Given the description of an element on the screen output the (x, y) to click on. 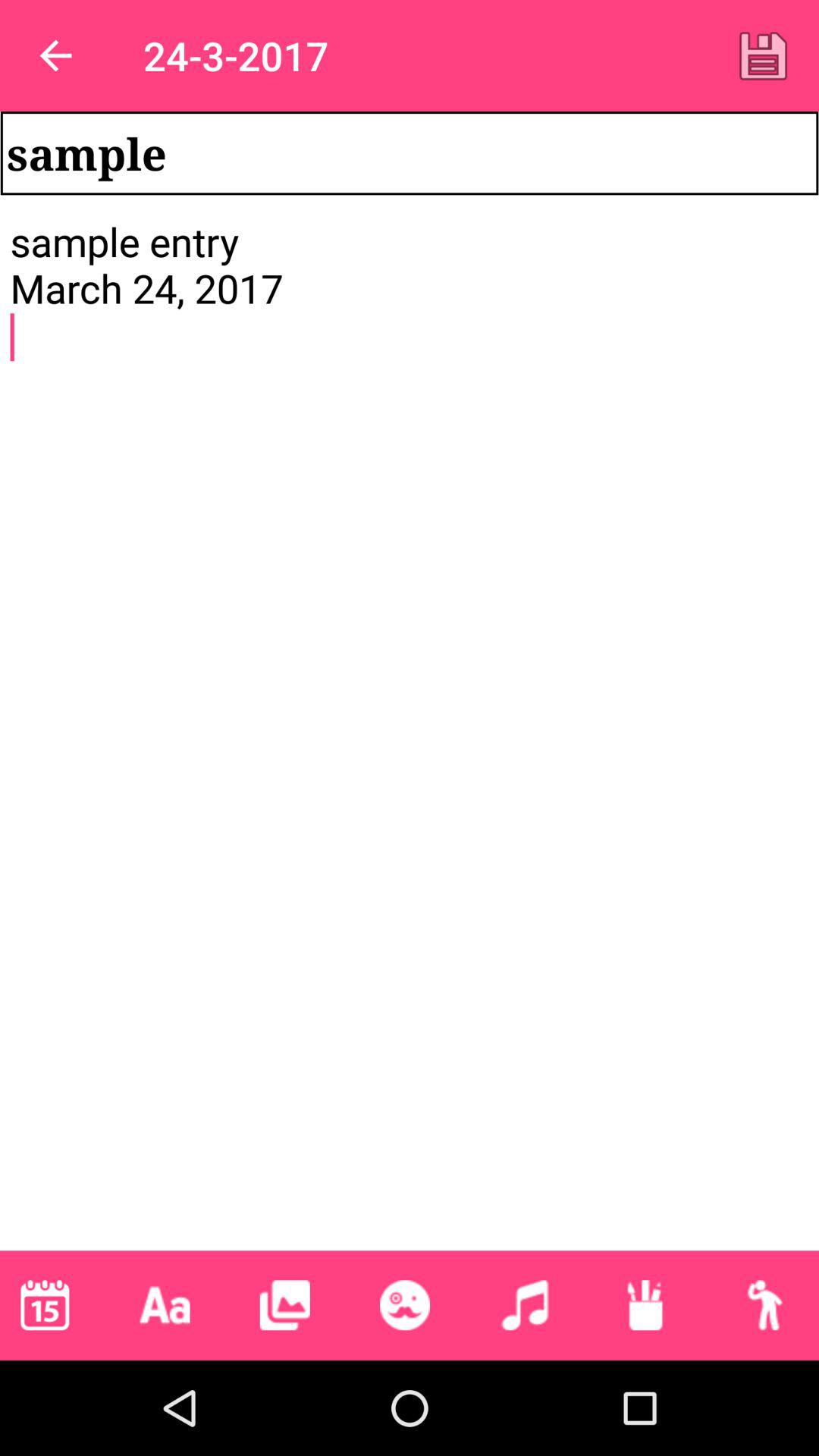
turn off item next to the 24-3-2017 item (55, 55)
